Given the description of an element on the screen output the (x, y) to click on. 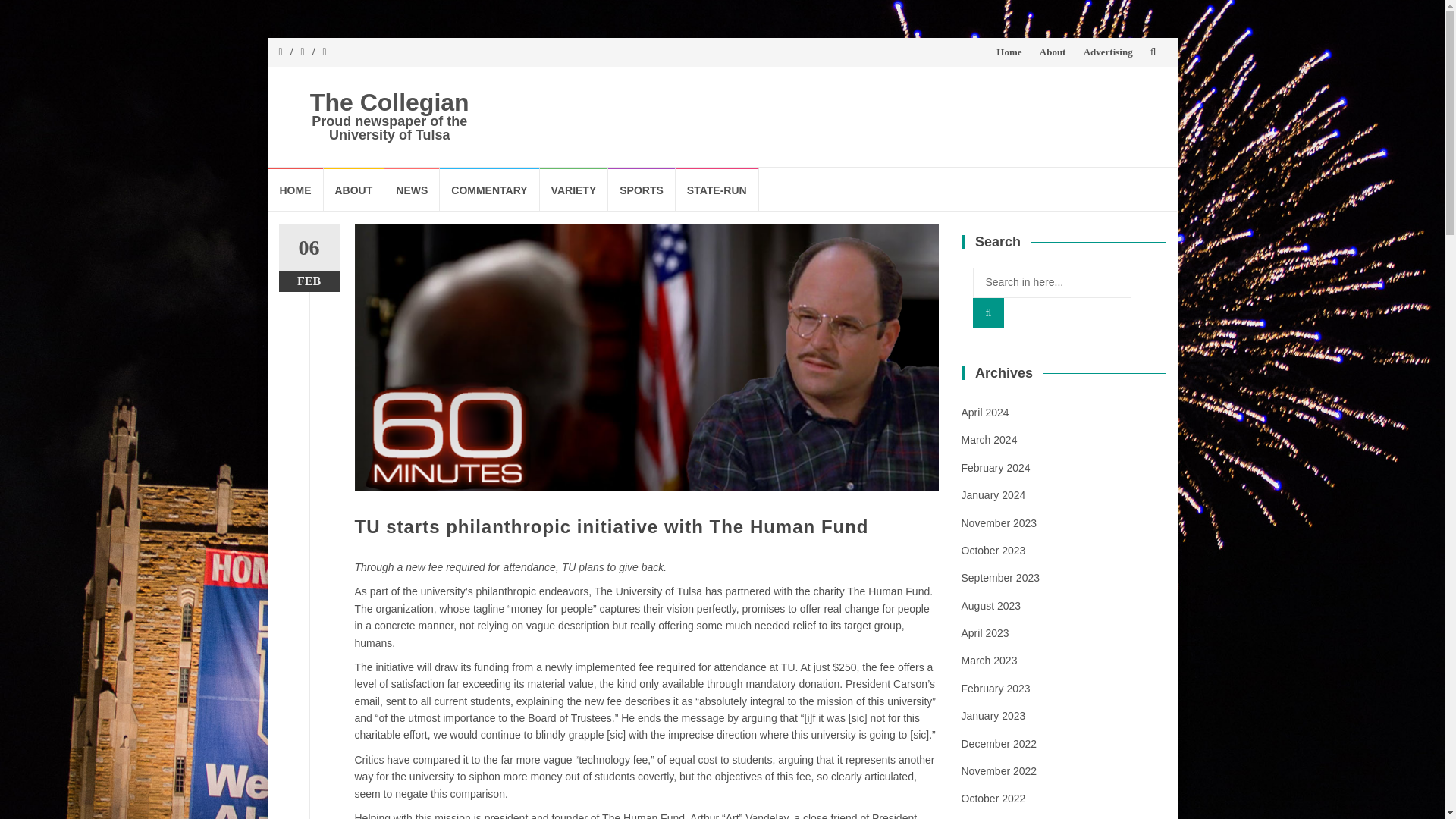
Search for: (1051, 282)
The Collegian (389, 102)
ABOUT (353, 188)
Advertising (1107, 51)
STATE-RUN (716, 188)
About (1052, 51)
VARIETY (574, 188)
COMMENTARY (488, 188)
The Collegian (389, 102)
Search (988, 313)
NEWS (411, 188)
Home (1008, 51)
HOME (295, 188)
